Given the description of an element on the screen output the (x, y) to click on. 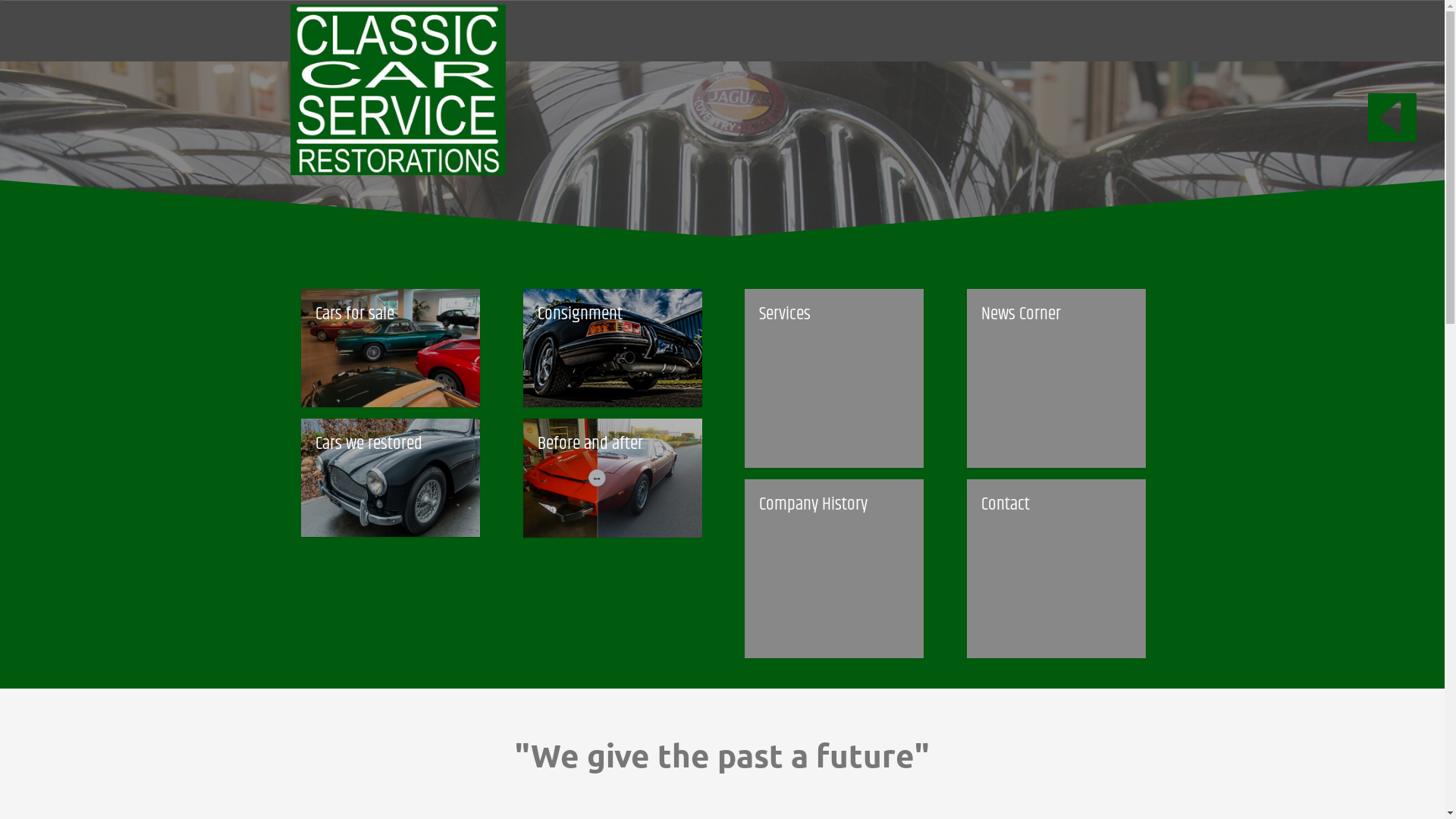
Consignment Element type: text (612, 347)
Company History Element type: text (833, 568)
Services Element type: text (833, 377)
Cars we restored Element type: text (390, 477)
Cars for sale Element type: text (390, 347)
Before and after Element type: text (612, 507)
News Corner Element type: text (1055, 377)
Contact Element type: text (1055, 568)
